Given the description of an element on the screen output the (x, y) to click on. 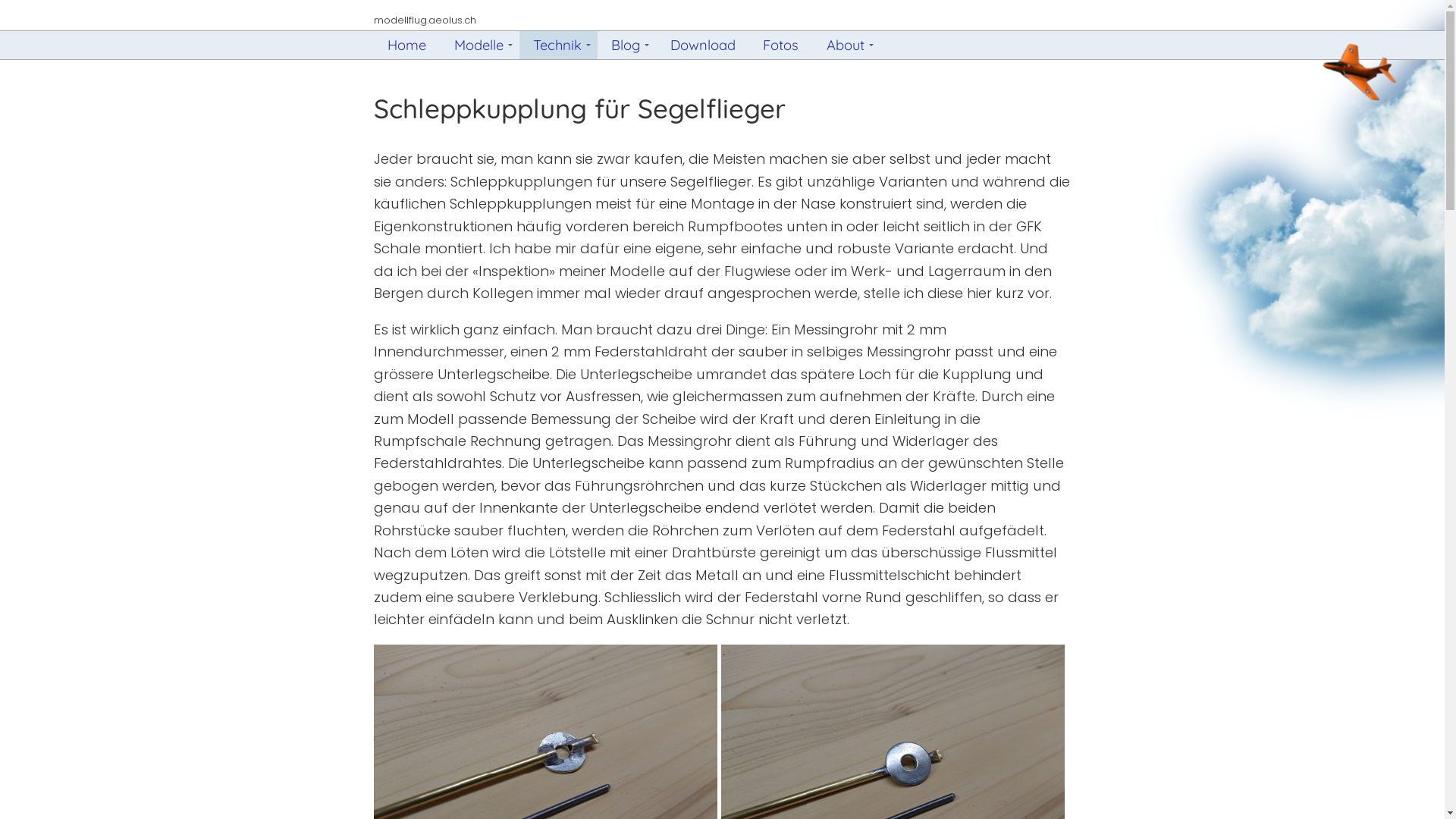
Modelle Element type: text (479, 45)
Fotos Element type: text (780, 45)
modellflug.aeolus.ch Element type: text (424, 19)
Download Element type: text (702, 45)
Home Element type: text (406, 45)
Blog Element type: text (626, 45)
About Element type: text (846, 45)
Technik Element type: text (558, 45)
